Given the description of an element on the screen output the (x, y) to click on. 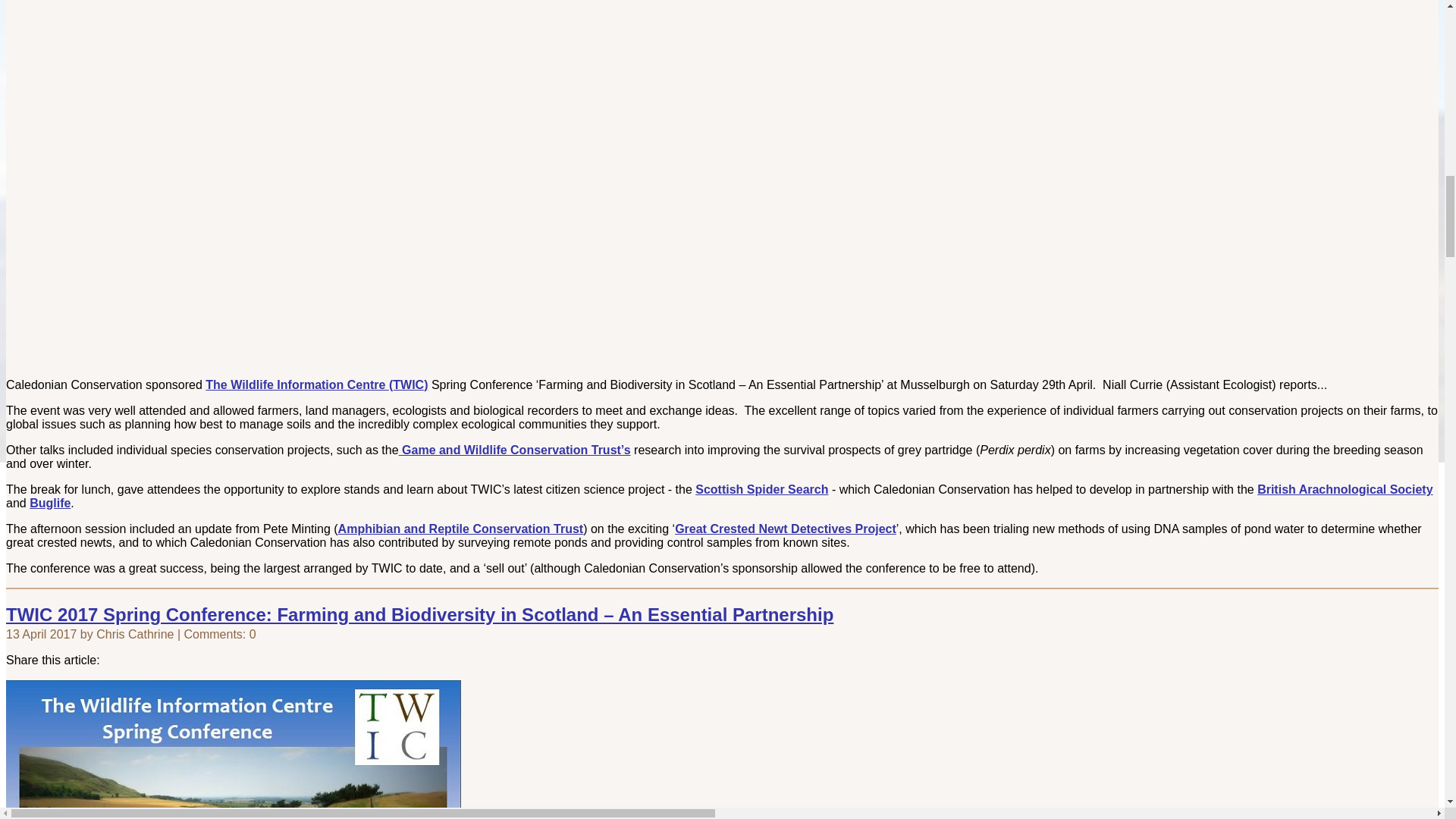
British Arachnological Society (1344, 489)
Amphibian and Reptile Conservation Trust (460, 528)
Great Crested Newt Detectives Project (785, 528)
Scottish Spider Search (761, 489)
Buglife (49, 502)
